Given the description of an element on the screen output the (x, y) to click on. 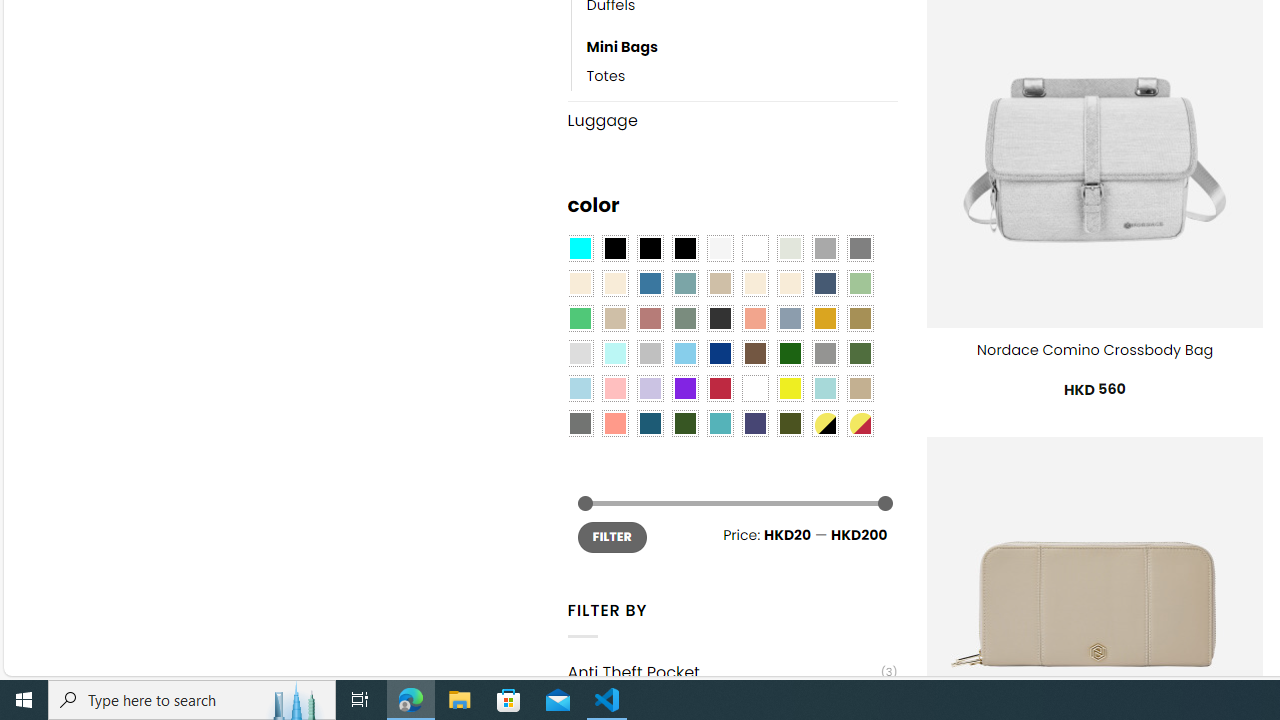
Hale Navy (824, 283)
Dark Green (789, 354)
Beige-Brown (614, 283)
Coral (755, 318)
Dark Gray (824, 249)
Light Blue (579, 388)
Caramel (755, 283)
Teal (719, 424)
Luggage (732, 119)
Silver (650, 354)
Aqua Blue (579, 249)
Pink (614, 388)
Clear (755, 249)
Forest (684, 424)
Kelp (859, 318)
